Given the description of an element on the screen output the (x, y) to click on. 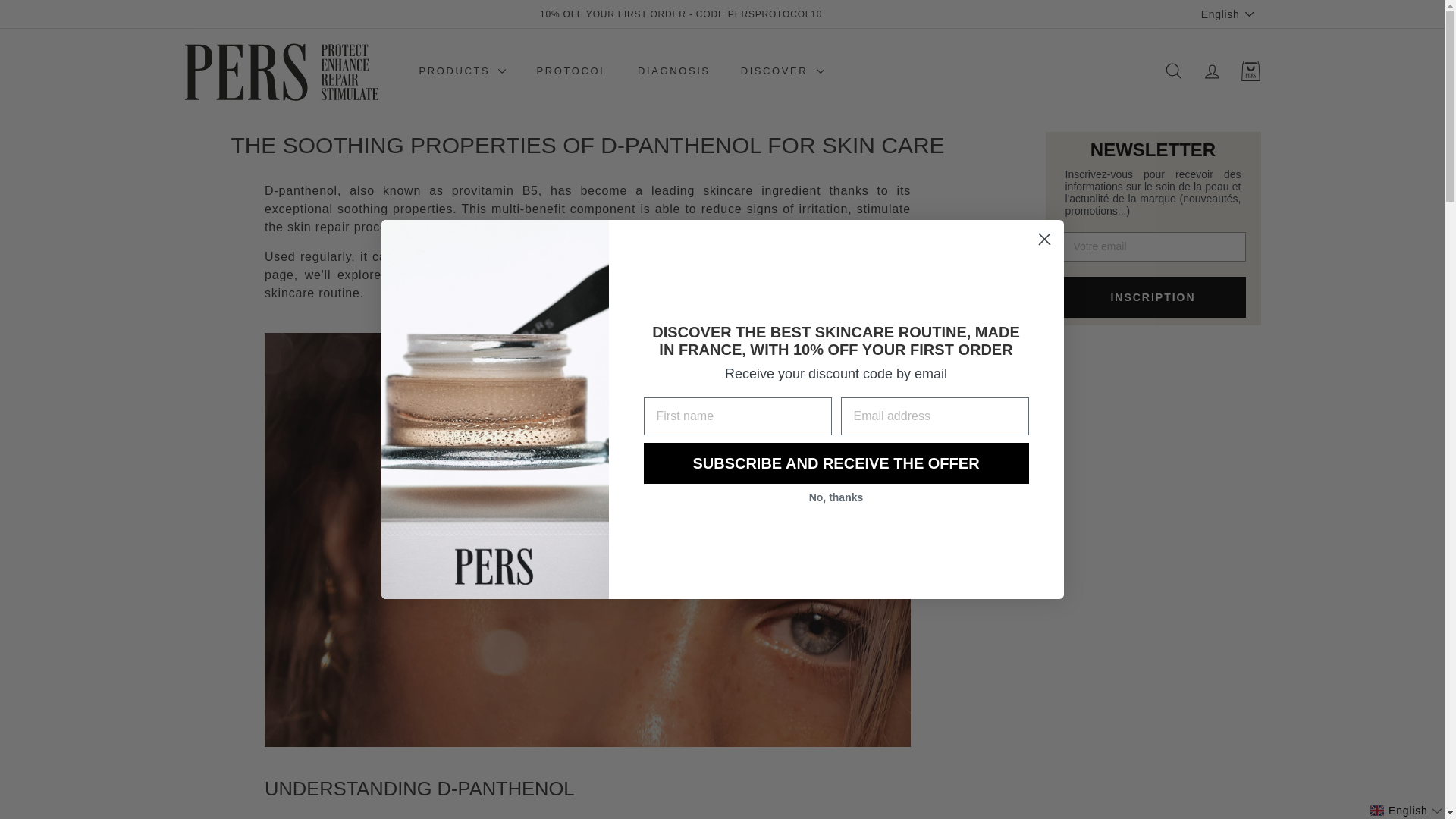
PROTOCOL (572, 71)
English (1230, 14)
